Given the description of an element on the screen output the (x, y) to click on. 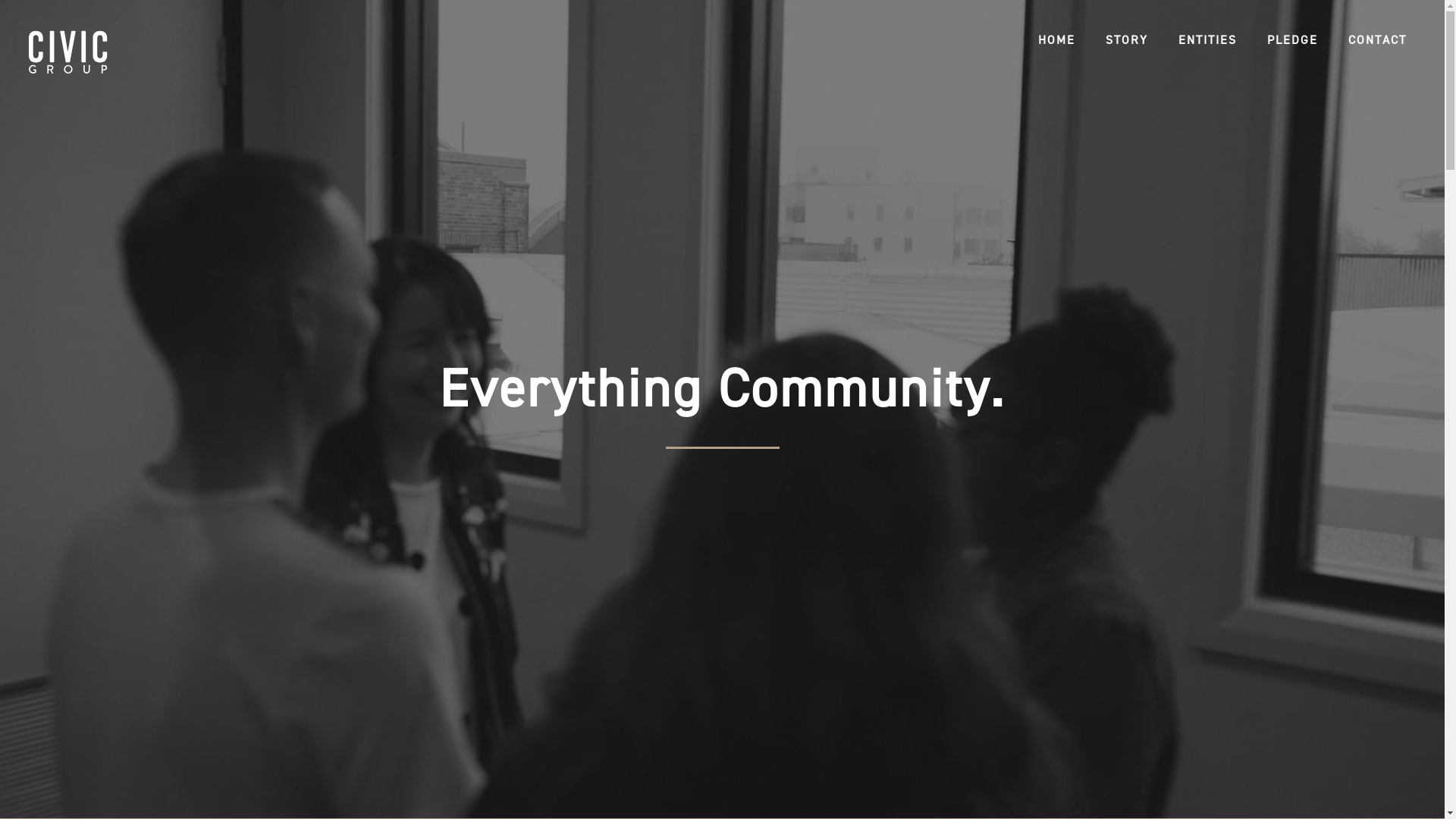
STORY Element type: text (1126, 39)
HOME Element type: text (1056, 39)
CONTACT Element type: text (1377, 39)
ENTITIES Element type: text (1207, 39)
PLEDGE Element type: text (1292, 39)
